Given the description of an element on the screen output the (x, y) to click on. 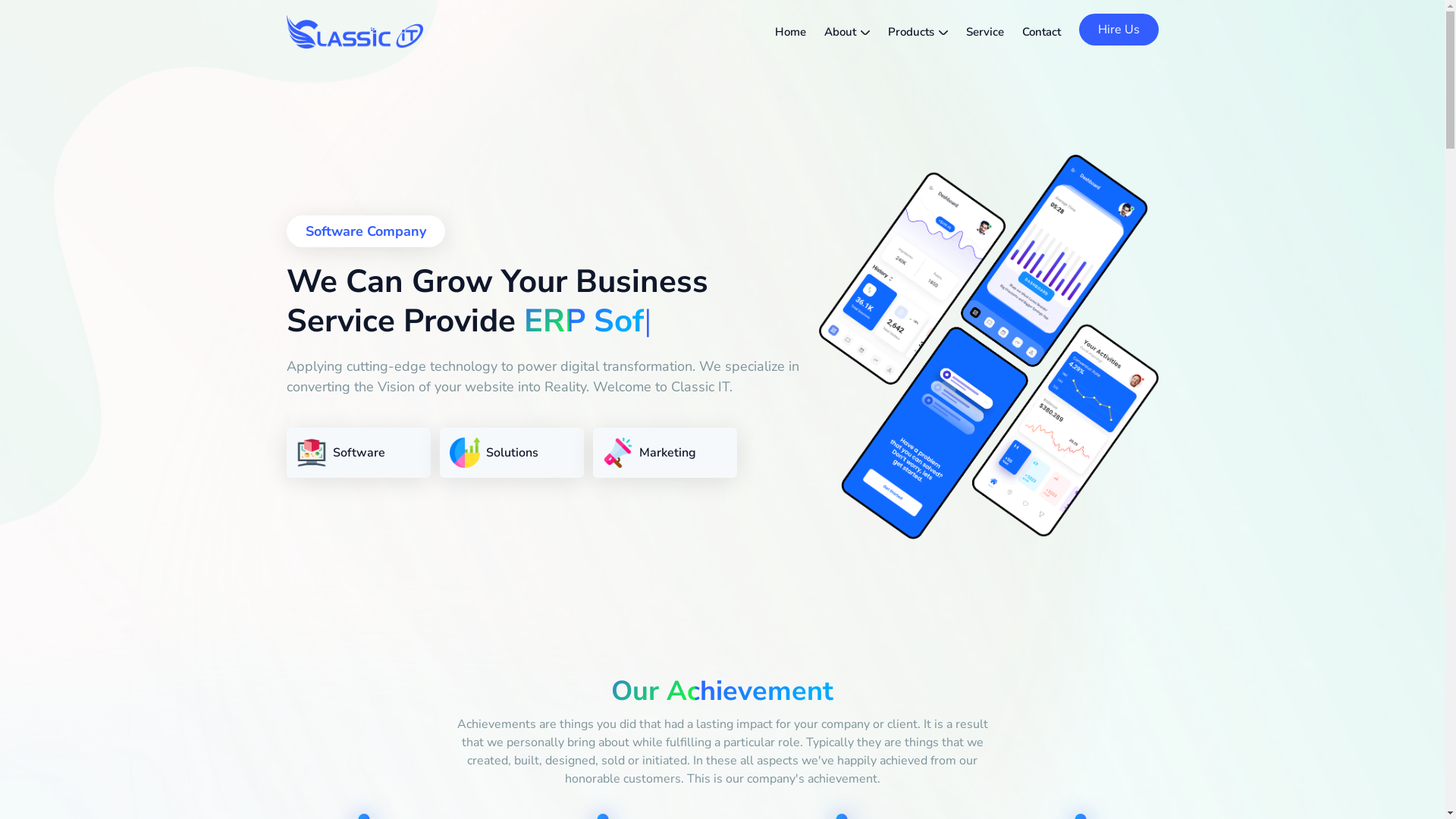
Hire Us Element type: text (1117, 29)
Service Element type: text (985, 31)
Contact Element type: text (1041, 31)
About Element type: text (846, 31)
Home Element type: text (790, 31)
Products Element type: text (917, 31)
